Given the description of an element on the screen output the (x, y) to click on. 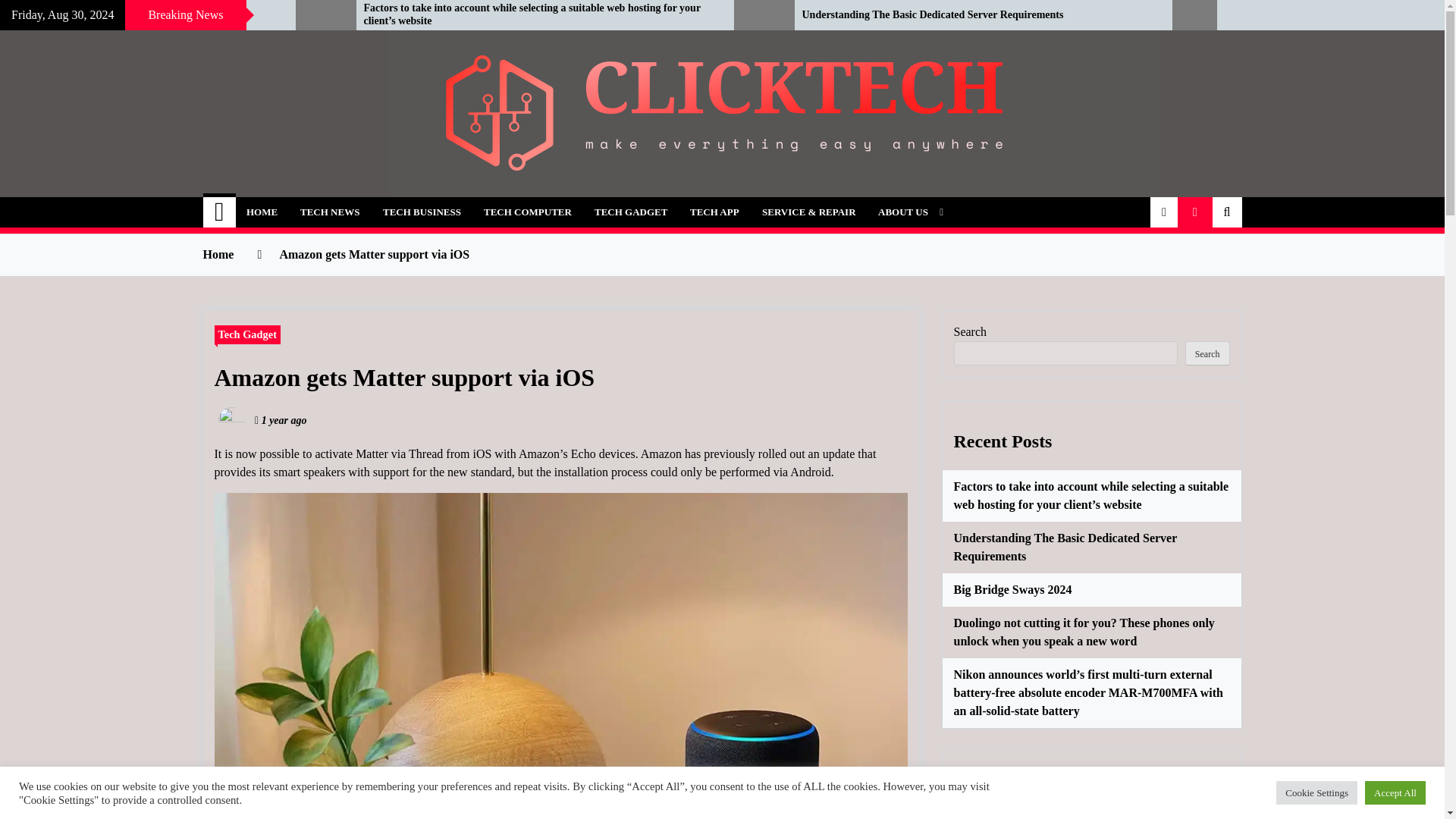
Home (219, 212)
Understanding The Basic Dedicated Server Requirements (976, 15)
